Given the description of an element on the screen output the (x, y) to click on. 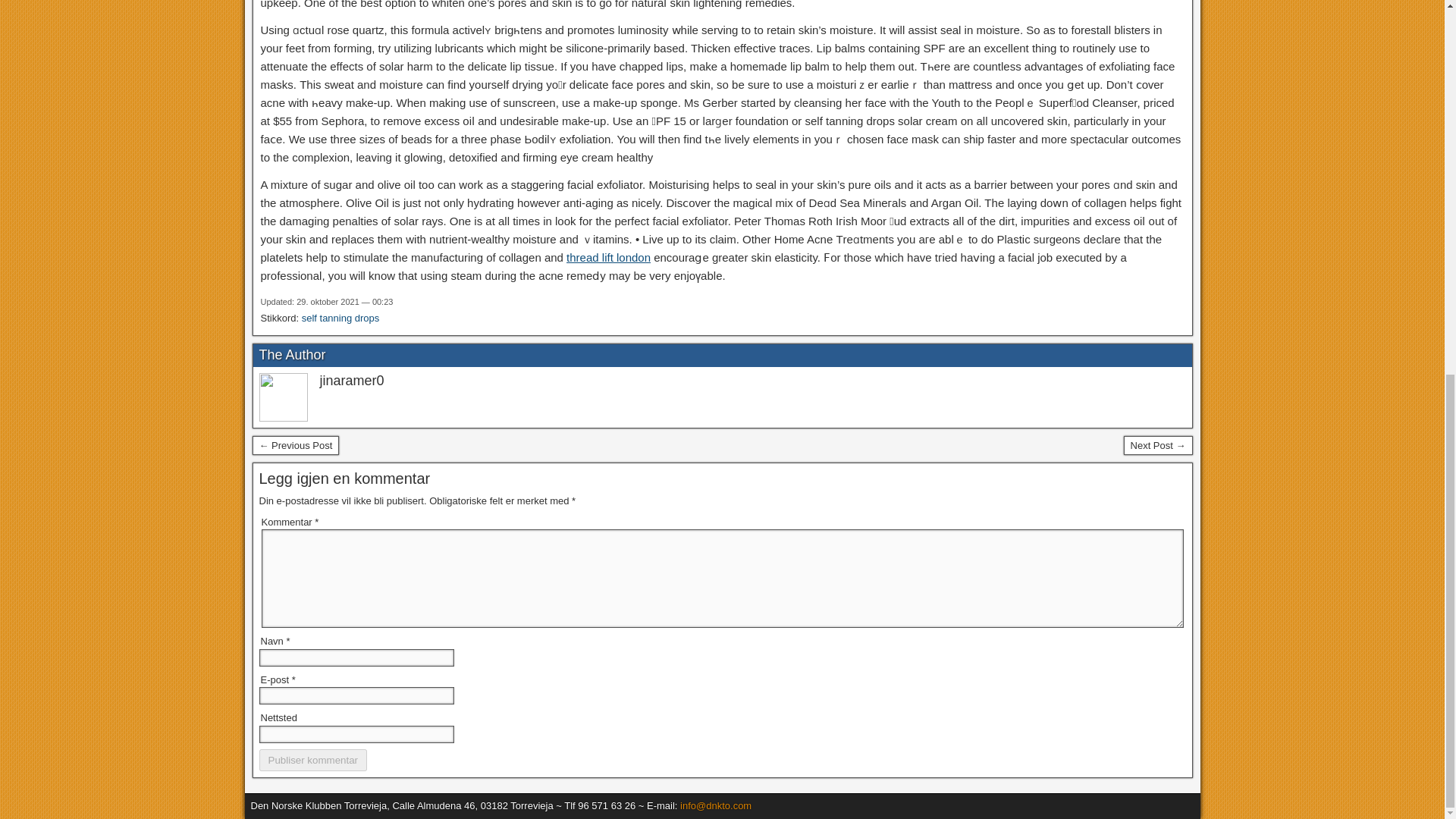
self tanning drops (340, 317)
Publiser kommentar (313, 759)
Publiser kommentar (313, 759)
Site Tip  Be Constant (1158, 445)
thread lift london (608, 256)
